Given the description of an element on the screen output the (x, y) to click on. 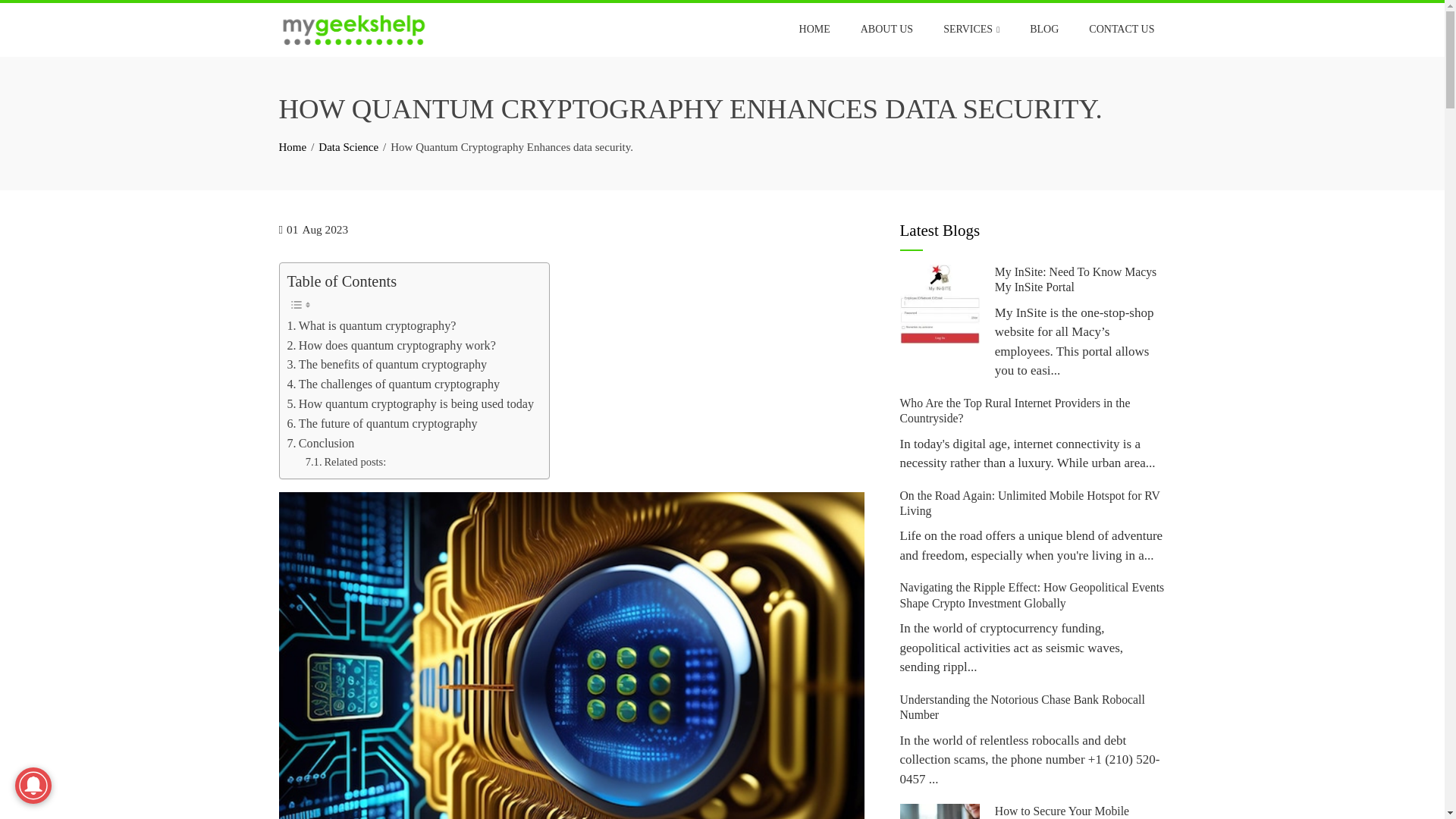
The future of quantum cryptography (381, 424)
What is quantum cryptography? (370, 325)
HOME (814, 29)
How quantum cryptography is being used today (410, 403)
CONTACT US (1121, 29)
The benefits of quantum cryptography (386, 364)
The challenges of quantum cryptography (392, 383)
Conclusion (319, 443)
How quantum cryptography is being used today (410, 403)
Search (32, 15)
